Given the description of an element on the screen output the (x, y) to click on. 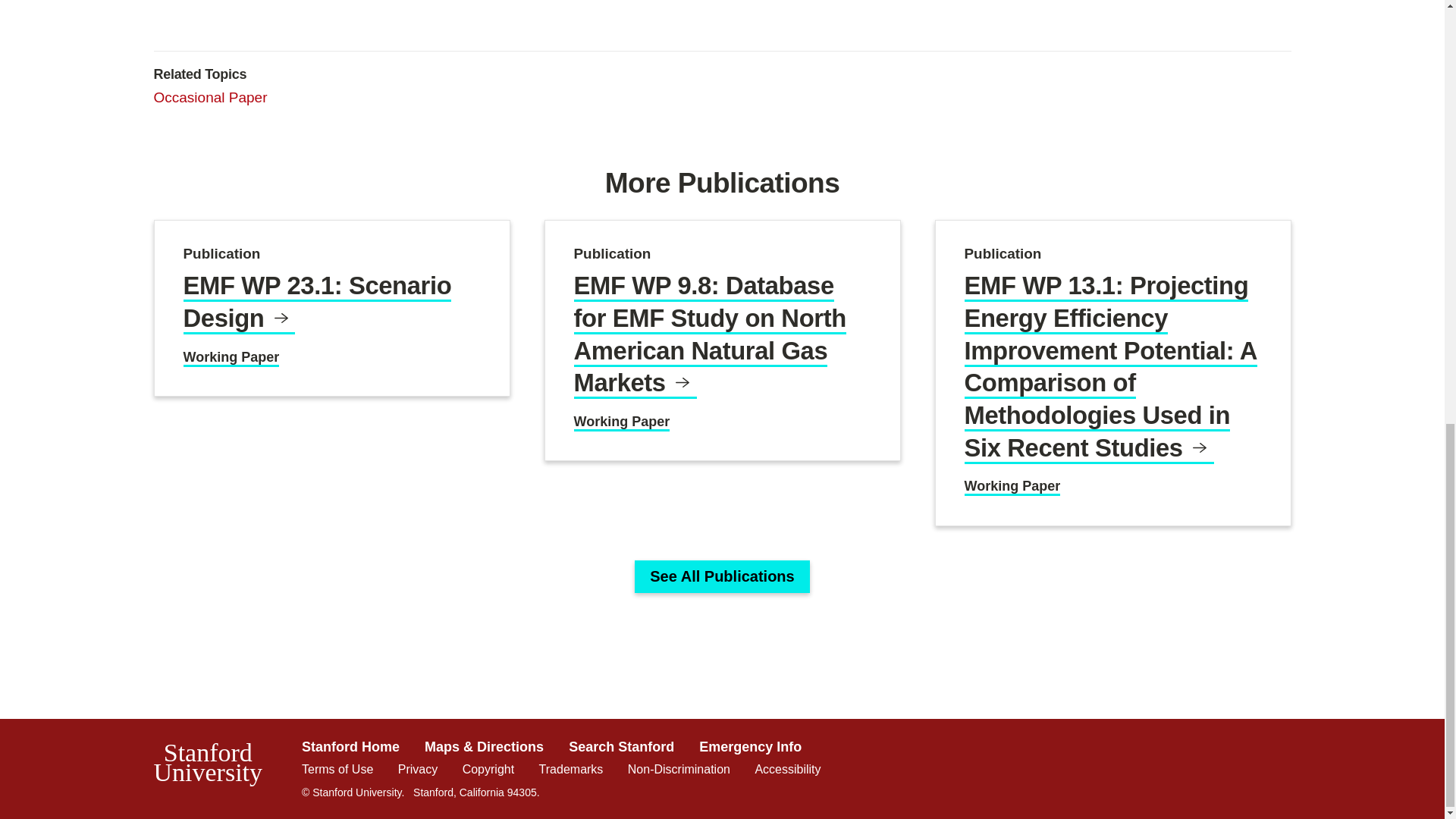
EMF WP 23.1: Scenario Design (317, 302)
Occasional Paper (209, 97)
Privacy and cookie policy (417, 768)
Report alleged copyright infringement (488, 768)
Terms of use for sites (336, 768)
Working Paper (1012, 487)
Ownership and use of Stanford trademarks and images (571, 768)
Report web accessibility issues (787, 768)
Working Paper (231, 357)
